Given the description of an element on the screen output the (x, y) to click on. 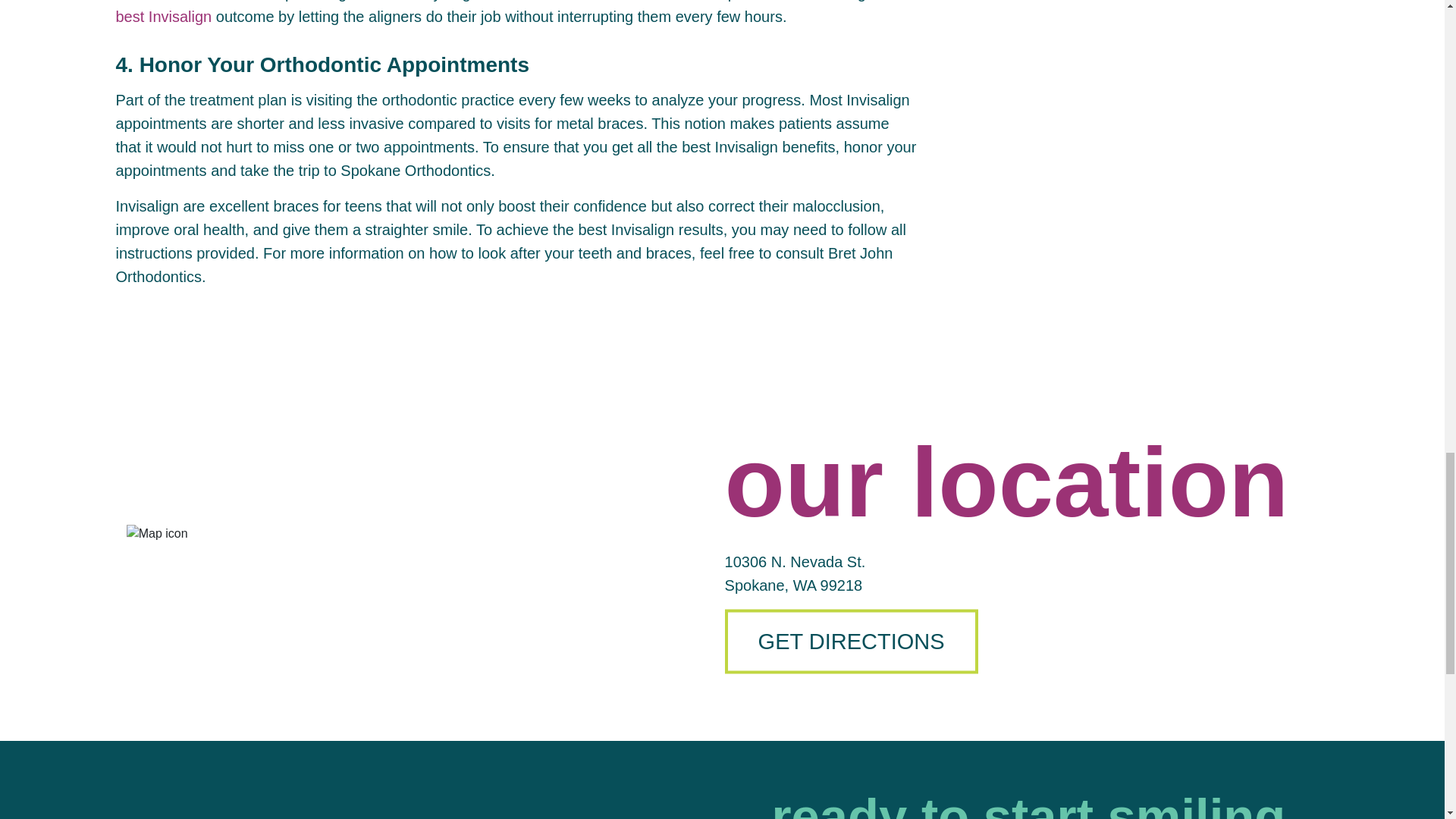
GET DIRECTIONS (851, 641)
best Invisalign (163, 16)
